Given the description of an element on the screen output the (x, y) to click on. 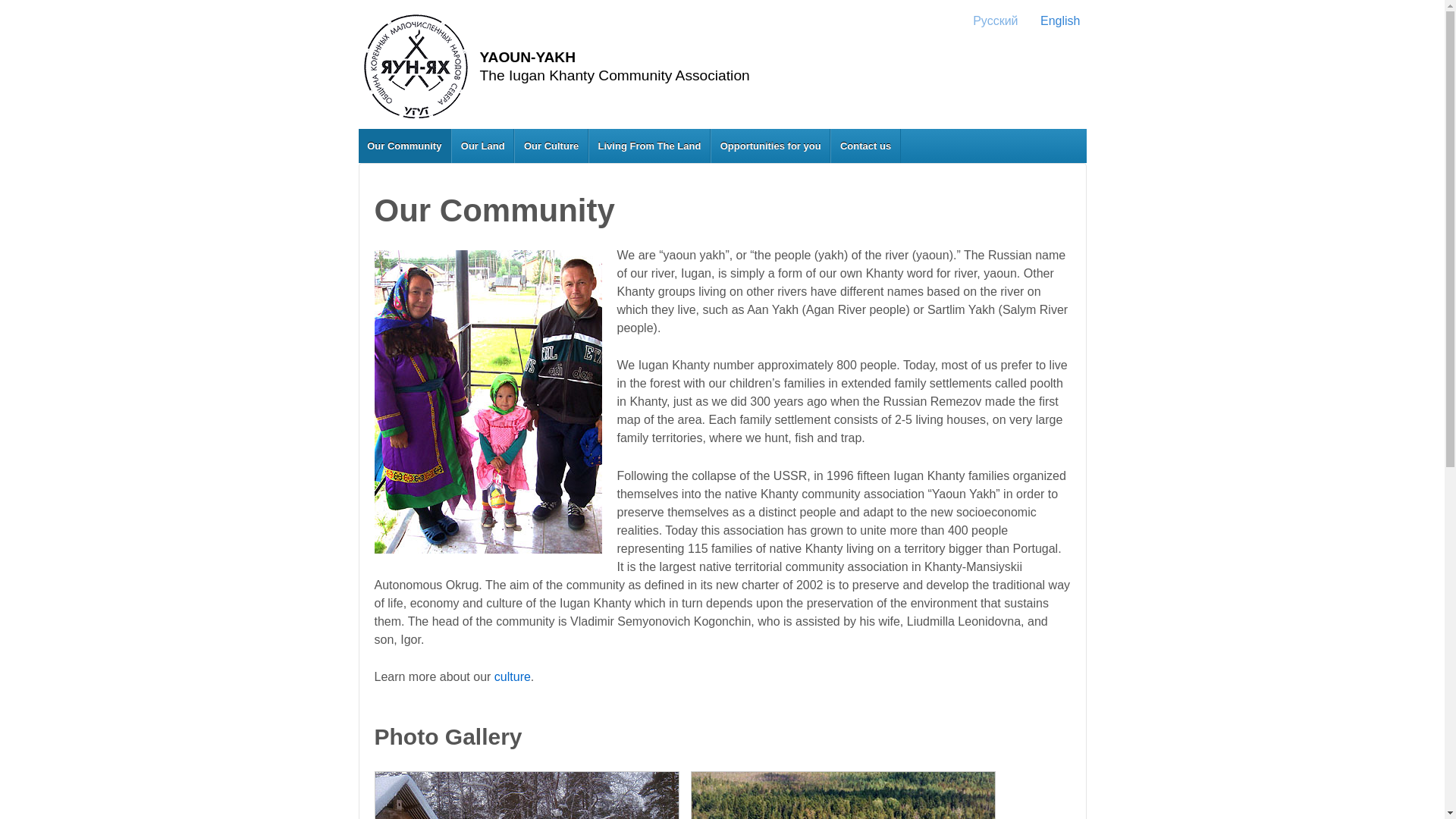
Living From The Land (649, 145)
Our Community (404, 145)
Our Land (482, 145)
culture (513, 676)
Contact us (865, 145)
Our Culture (550, 145)
Opportunities for you (769, 145)
English (1052, 20)
A settlement in winter (526, 795)
Kurlomkin Settlement B Iugan River (842, 795)
